Given the description of an element on the screen output the (x, y) to click on. 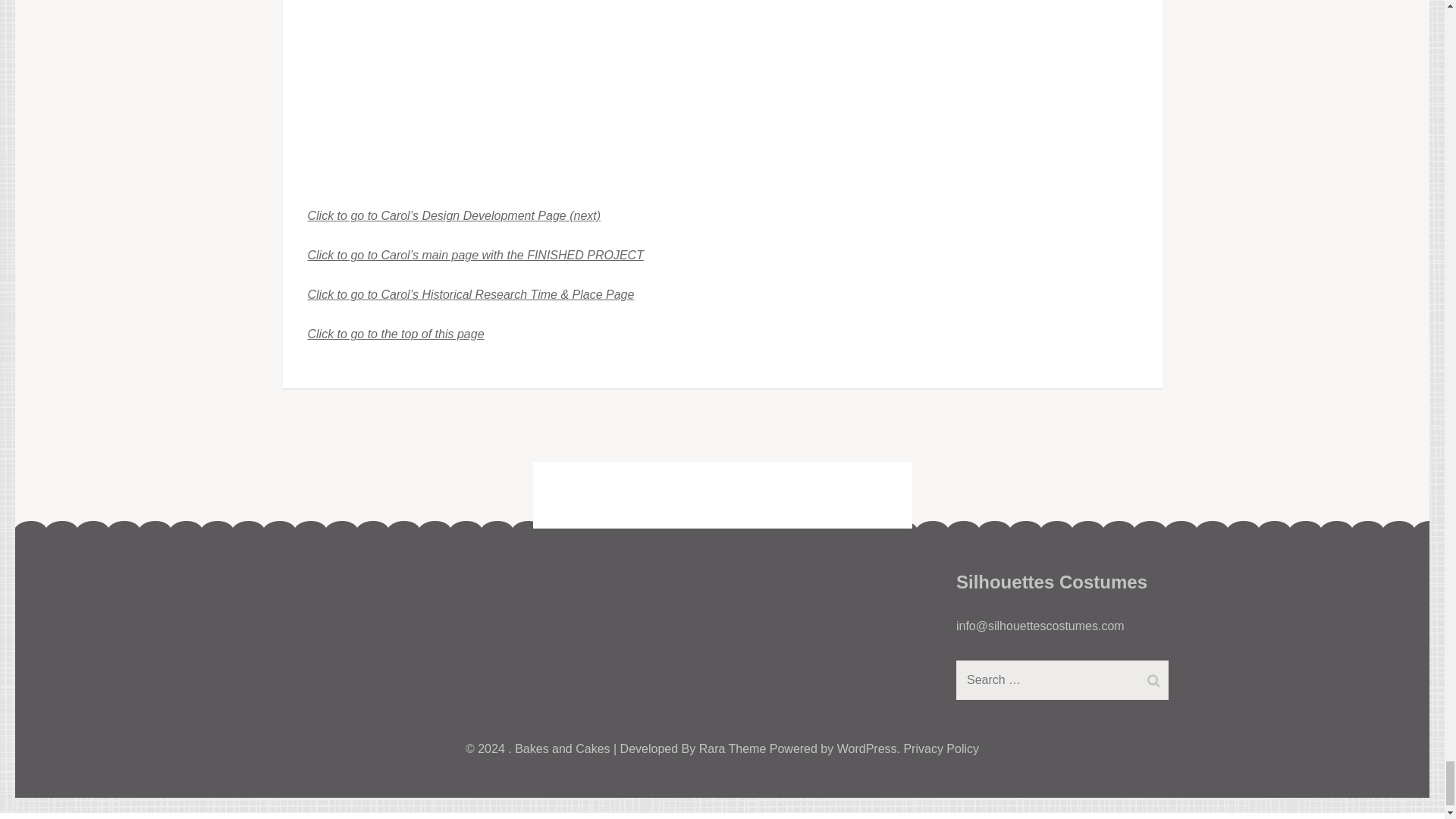
Search (1153, 680)
Search (1153, 680)
